Given the description of an element on the screen output the (x, y) to click on. 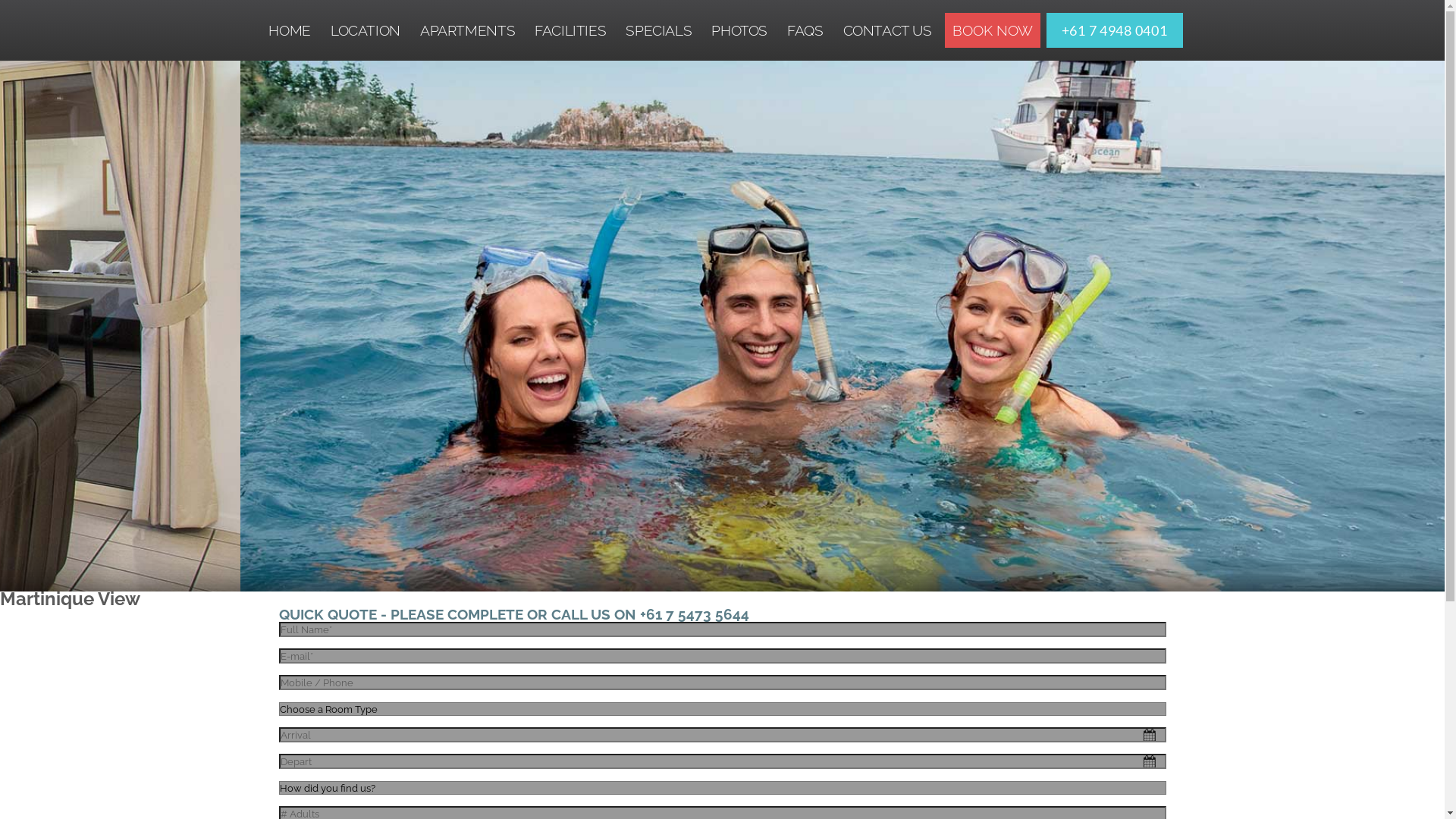
APARTMENTS Element type: text (467, 29)
FACILITIES Element type: text (569, 29)
+61 7 4948 0401 Element type: text (1114, 29)
SPECIALS Element type: text (658, 29)
BOOK NOW Element type: text (992, 29)
ONE BEDROOM APARTMENT Element type: text (523, 62)
PHOTOS Element type: text (739, 29)
FAQS Element type: text (804, 29)
LOCATION Element type: text (365, 29)
CONTACT US Element type: text (887, 29)
HOME Element type: text (289, 29)
